Given the description of an element on the screen output the (x, y) to click on. 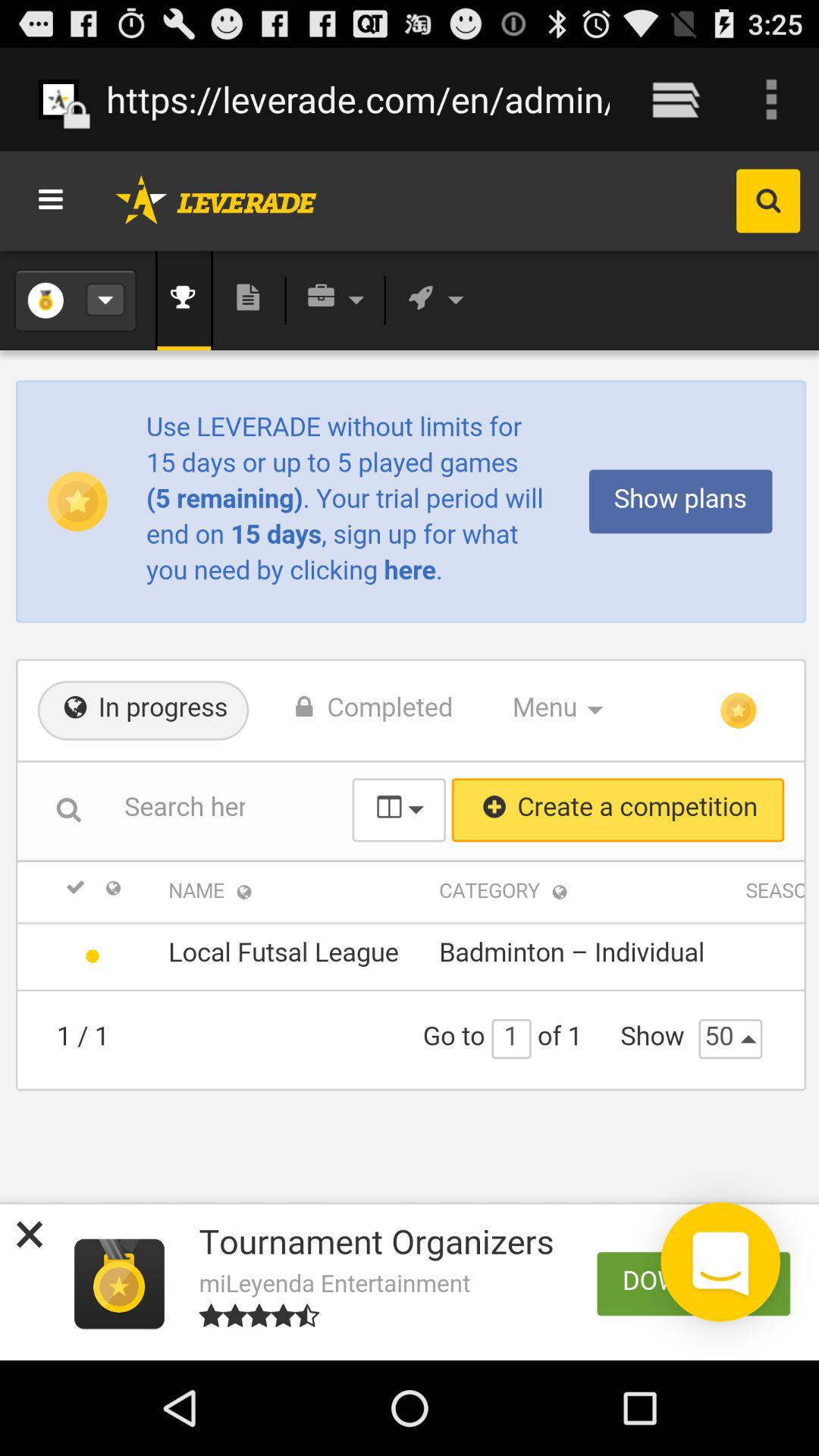
click icon at the top (357, 99)
